Given the description of an element on the screen output the (x, y) to click on. 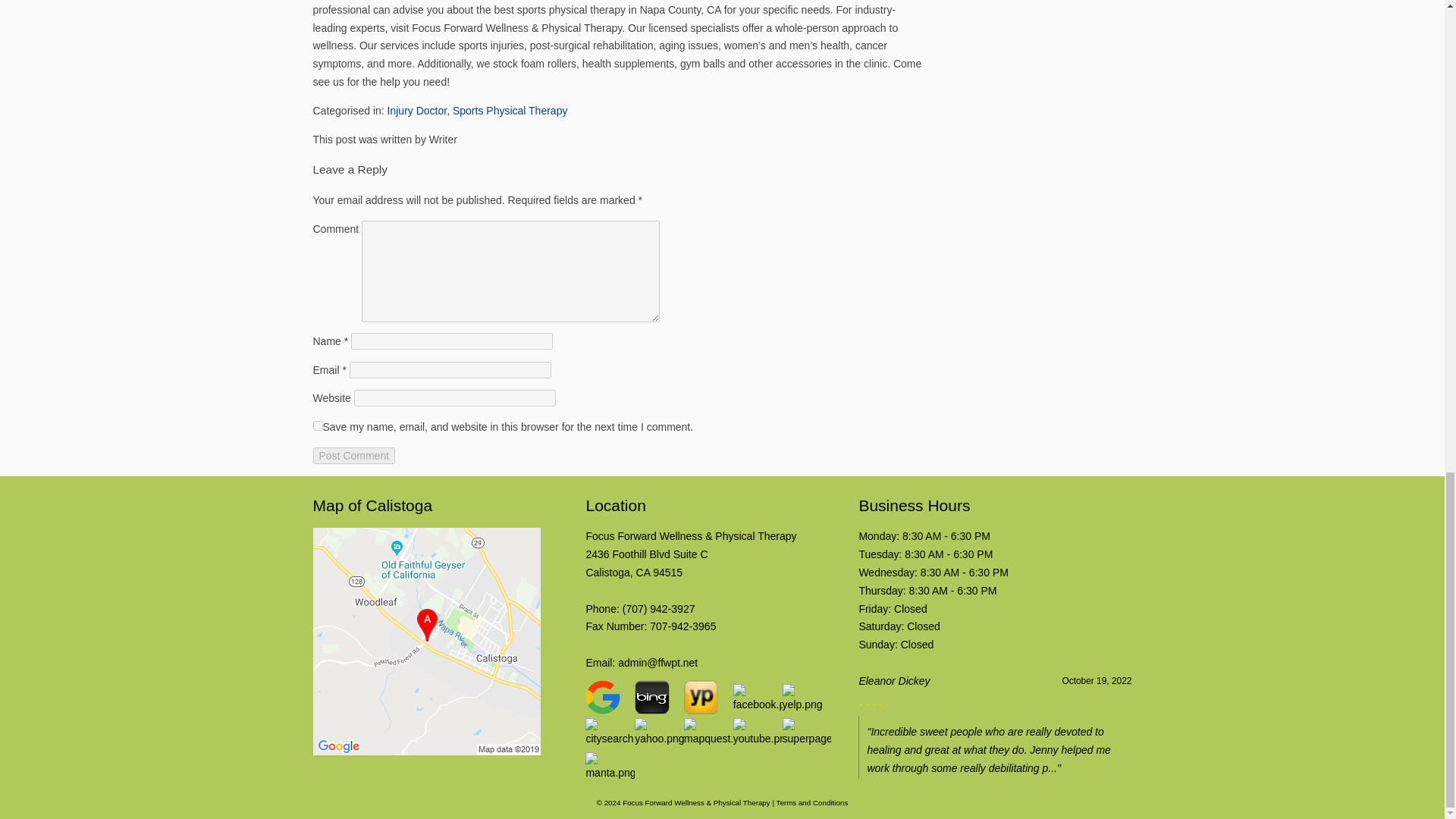
Sports Physical Therapy (509, 110)
Post Comment (353, 455)
yes (317, 425)
Injury Doctor (416, 110)
Terms and Conditions (812, 802)
Post Comment (646, 562)
